Given the description of an element on the screen output the (x, y) to click on. 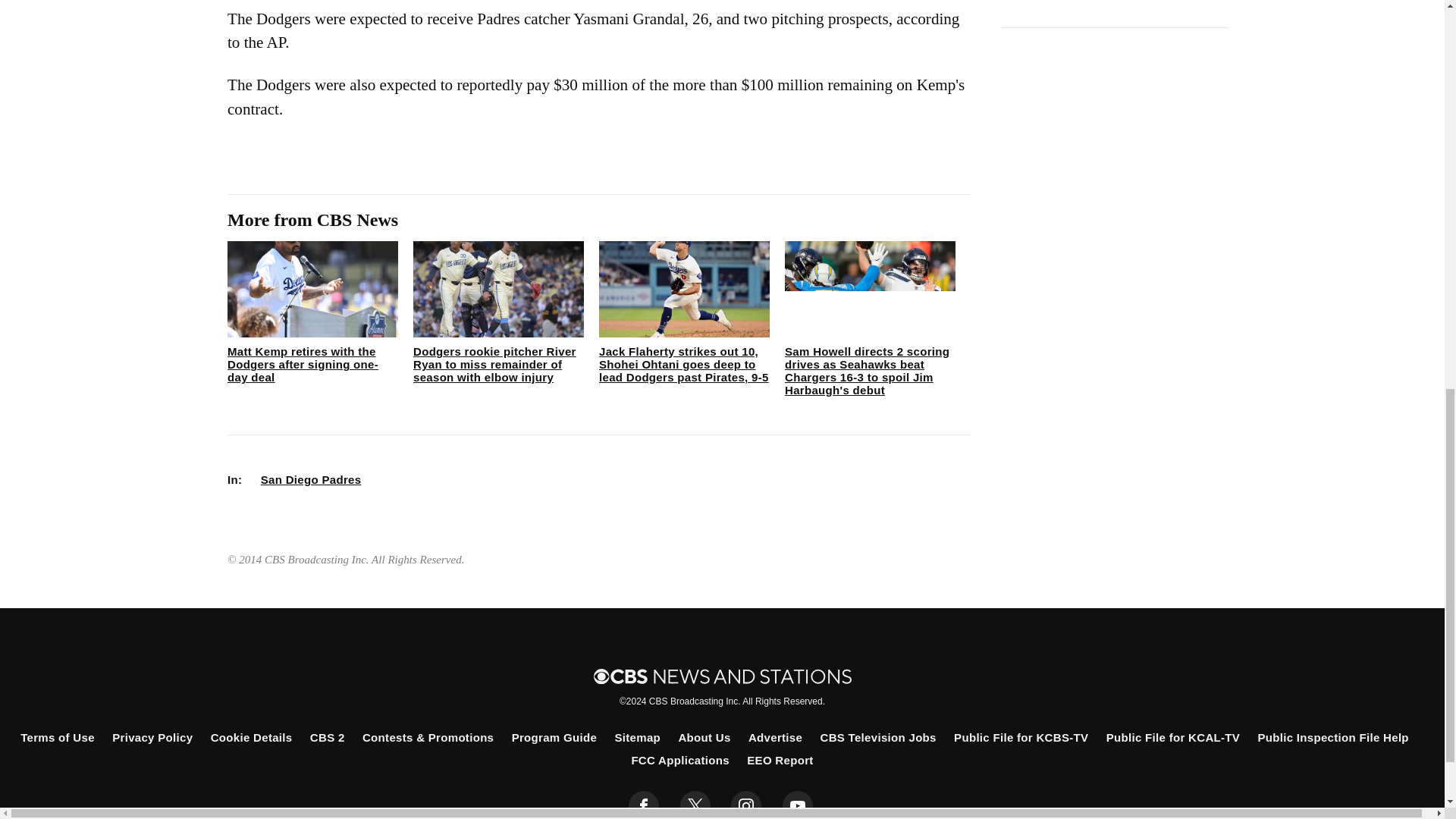
twitter (694, 805)
facebook (643, 805)
instagram (745, 805)
youtube (797, 805)
